Given the description of an element on the screen output the (x, y) to click on. 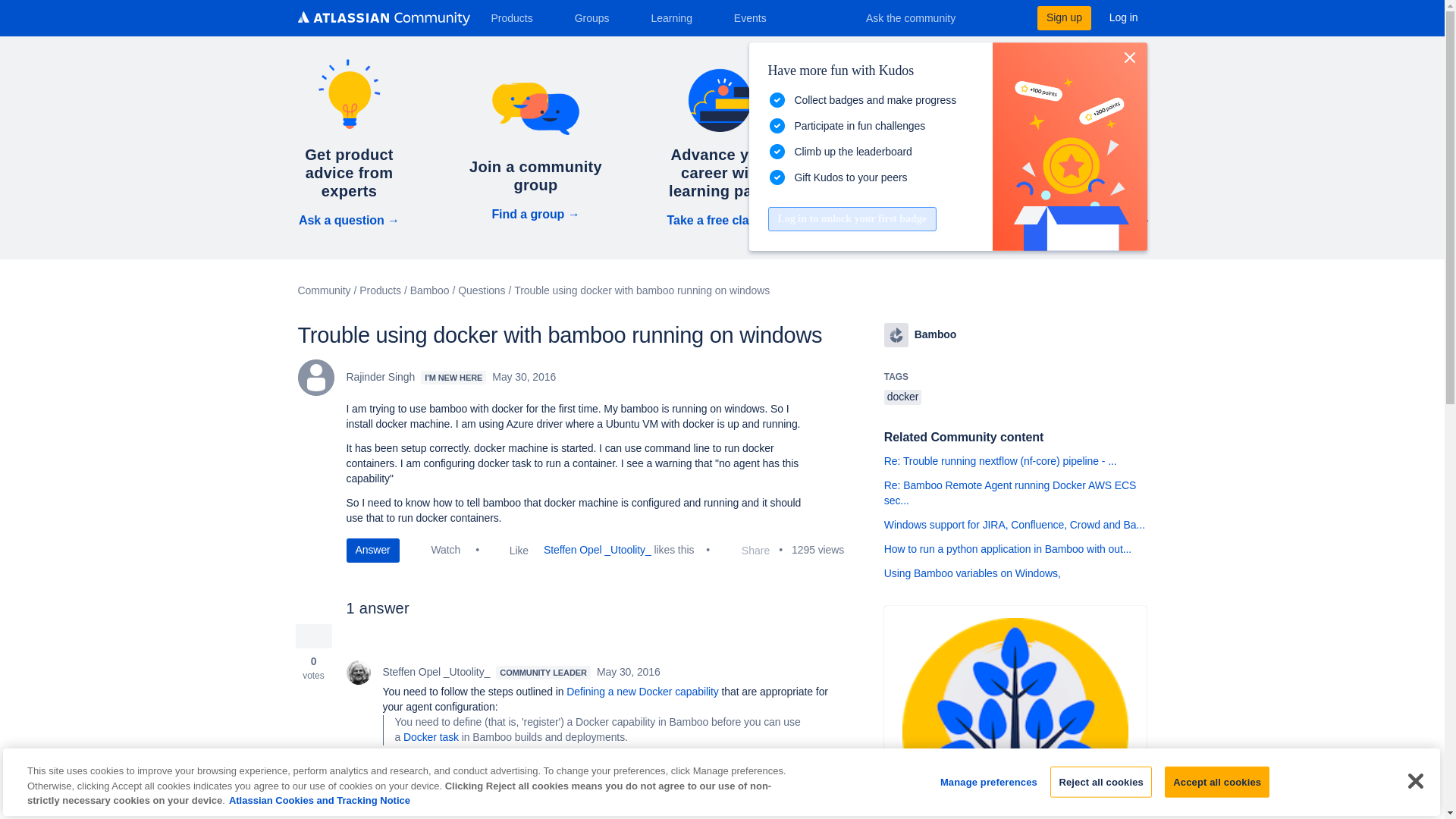
Groups (598, 17)
Events (756, 17)
Atlassian Community logo (382, 19)
Learning (676, 17)
Log in to unlock your first badge (851, 218)
Rajinder Singh (315, 377)
Products (517, 17)
Ask the community  (921, 17)
Bamboo (895, 334)
Sign up (1063, 17)
Log in (1123, 17)
Atlassian Community logo (382, 18)
